Given the description of an element on the screen output the (x, y) to click on. 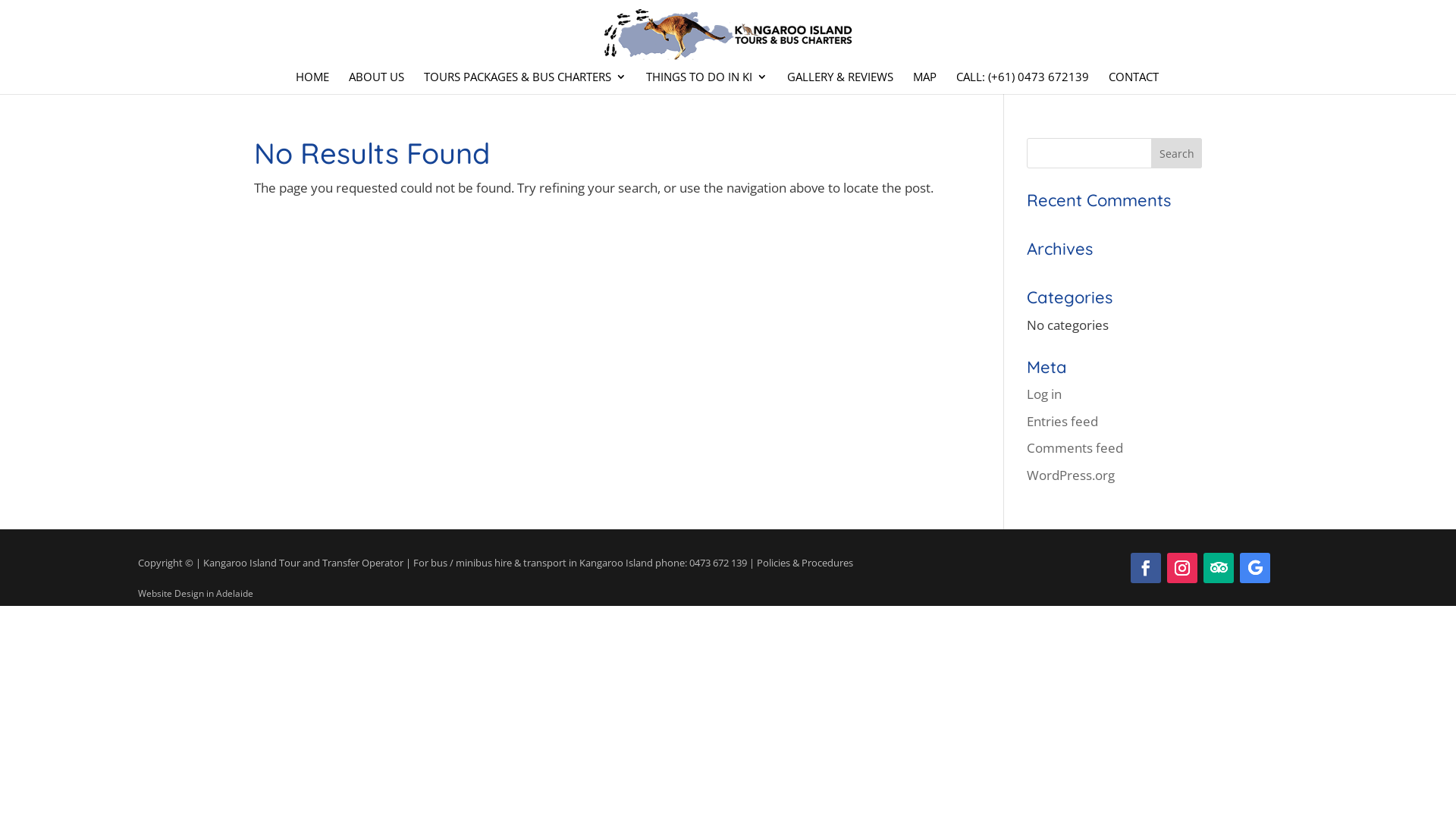
Website Design in Adelaide Element type: text (195, 592)
phone: 0473 672 139 Element type: text (700, 562)
Comments feed Element type: text (1074, 447)
CALL: (+61) 0473 672139 Element type: text (1022, 82)
WordPress.org Element type: text (1070, 474)
Policies & Procedures Element type: text (804, 562)
Entries feed Element type: text (1062, 420)
GALLERY & REVIEWS Element type: text (840, 82)
Follow on Google Element type: hover (1254, 567)
Log in Element type: text (1043, 393)
Follow on Facebook Element type: hover (1145, 567)
CONTACT Element type: text (1133, 82)
Follow on TripAdvisor Element type: hover (1218, 567)
MAP Element type: text (924, 82)
Follow on Instagram Element type: hover (1182, 567)
TOURS PACKAGES & BUS CHARTERS Element type: text (524, 82)
Search Element type: text (1176, 153)
ABOUT US Element type: text (376, 82)
HOME Element type: text (312, 82)
THINGS TO DO IN KI Element type: text (706, 82)
